Given the description of an element on the screen output the (x, y) to click on. 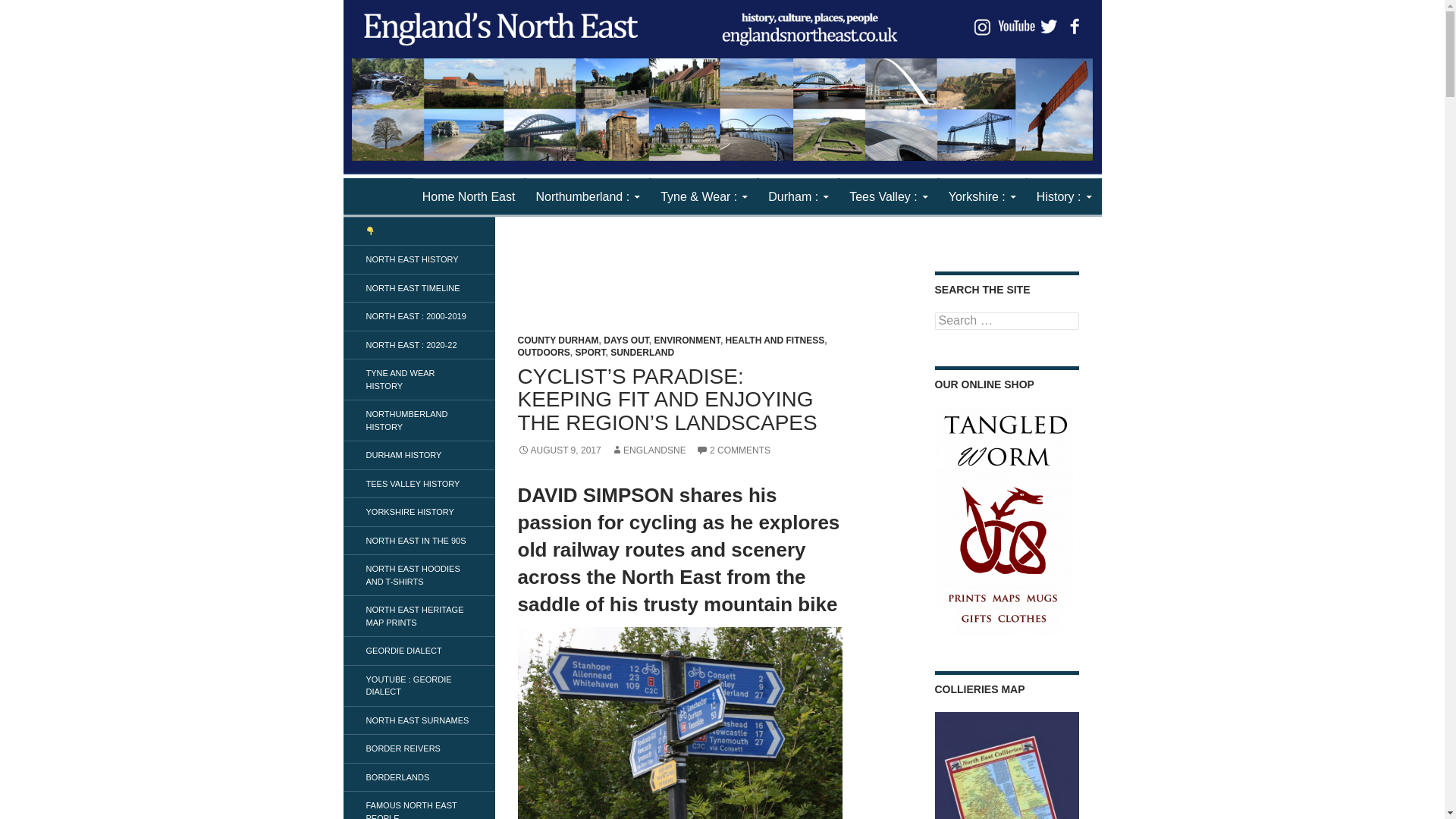
North East Collieries (1006, 765)
Northumberland : (587, 197)
Home North East (468, 197)
England's North East (433, 196)
